Given the description of an element on the screen output the (x, y) to click on. 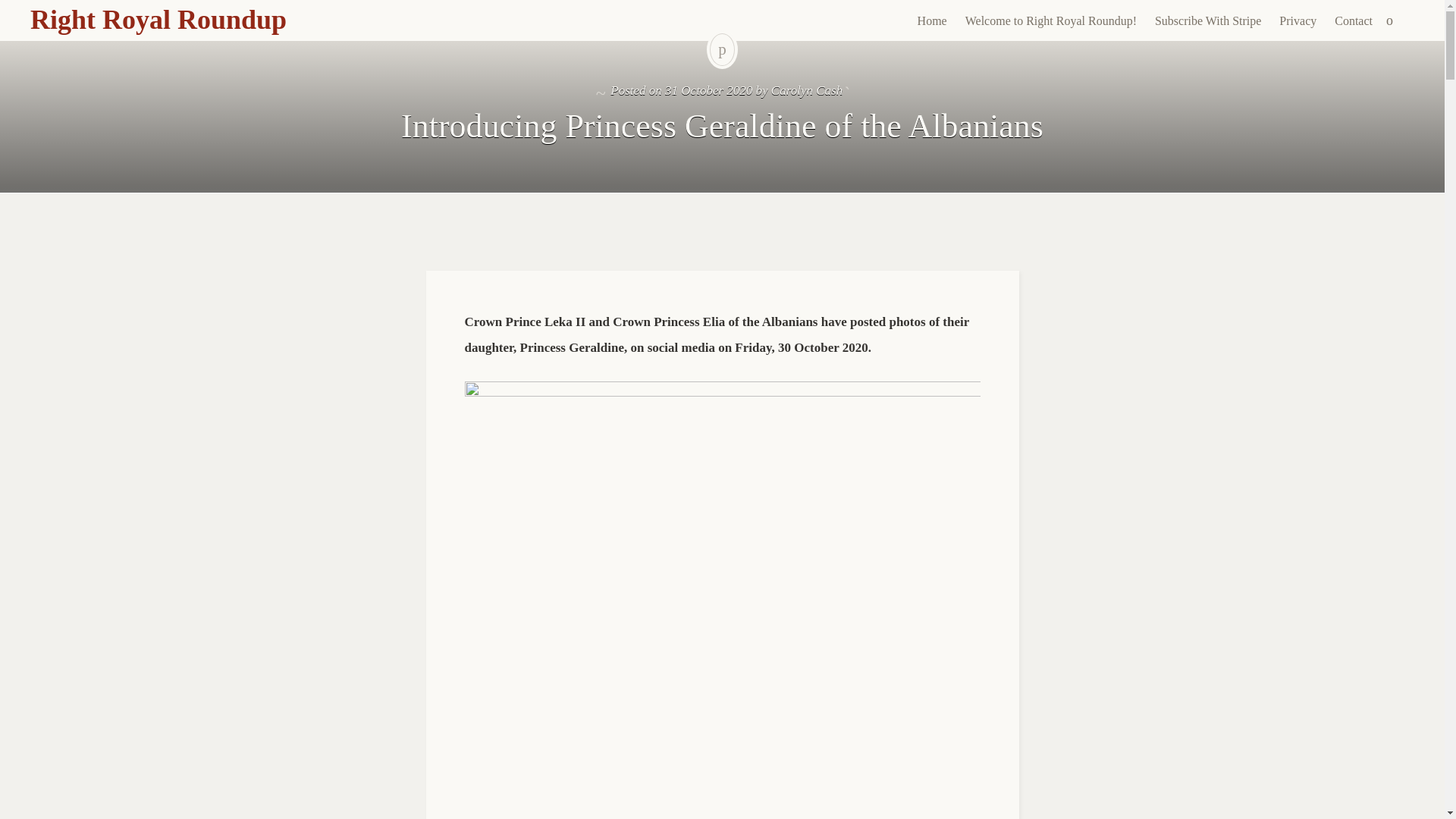
Right Royal Roundup (158, 19)
Contact (1353, 21)
31 October 2020 (708, 90)
Welcome to Right Royal Roundup! (1051, 21)
Privacy (1297, 21)
Search (11, 9)
Right Royal Roundup (158, 19)
Subscribe With Stripe (1207, 21)
Carolyn Cash (807, 90)
Home (932, 21)
